Given the description of an element on the screen output the (x, y) to click on. 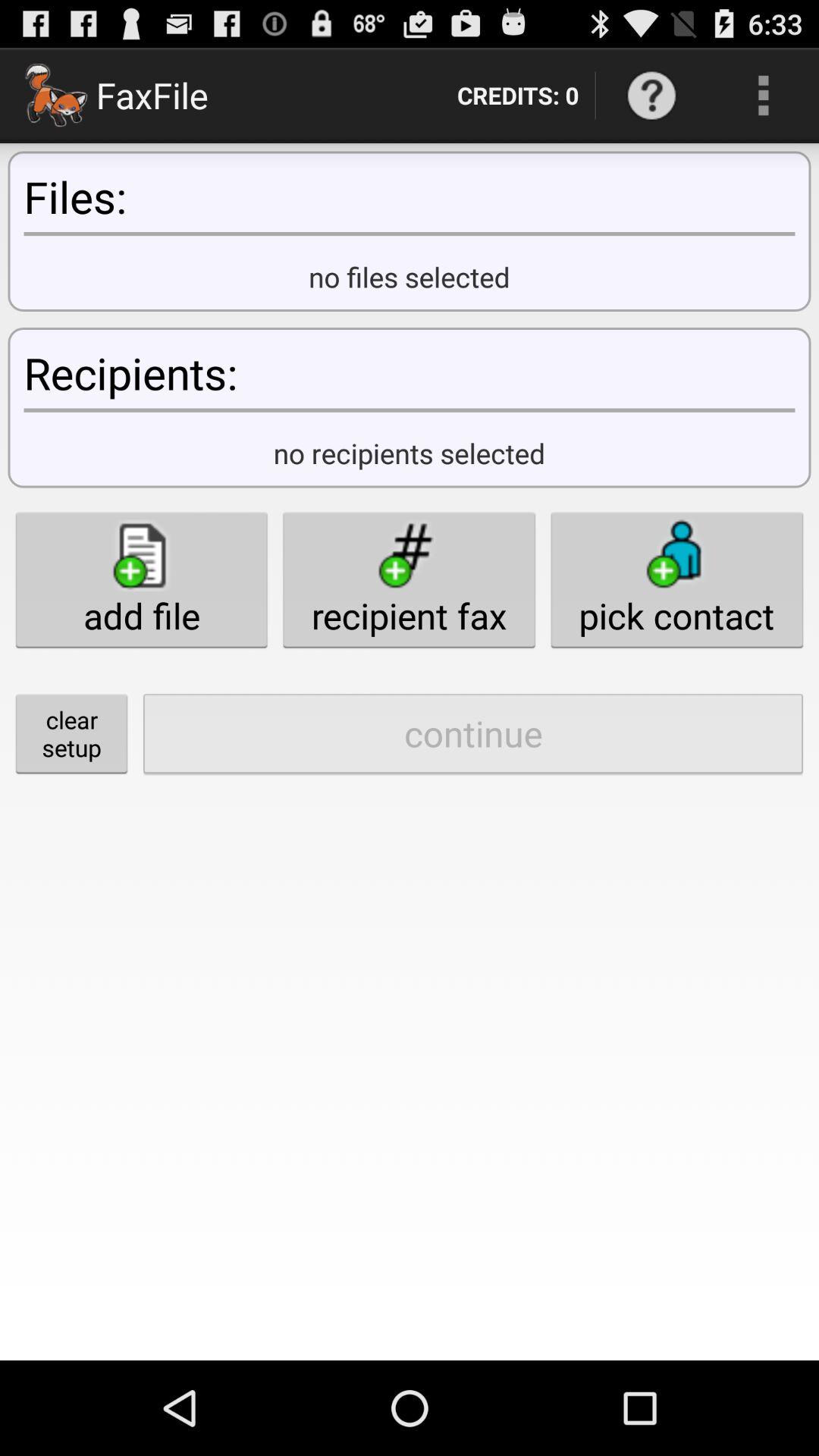
tap the icon next to credits: 0 (651, 95)
